Given the description of an element on the screen output the (x, y) to click on. 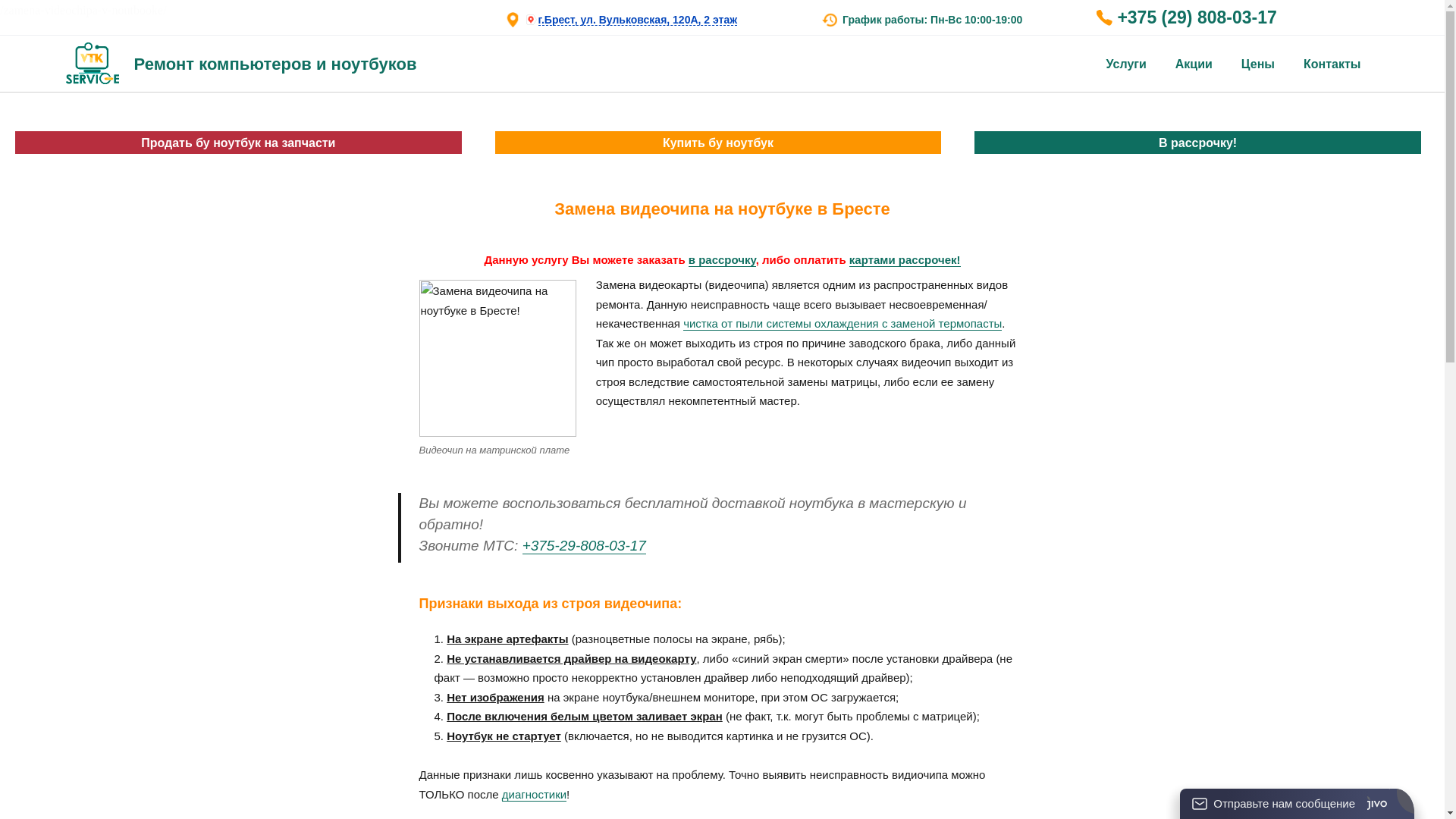
+375 (29) 808-03-17 Element type: text (1233, 18)
+375-29-808-03-17 Element type: text (584, 545)
